Given the description of an element on the screen output the (x, y) to click on. 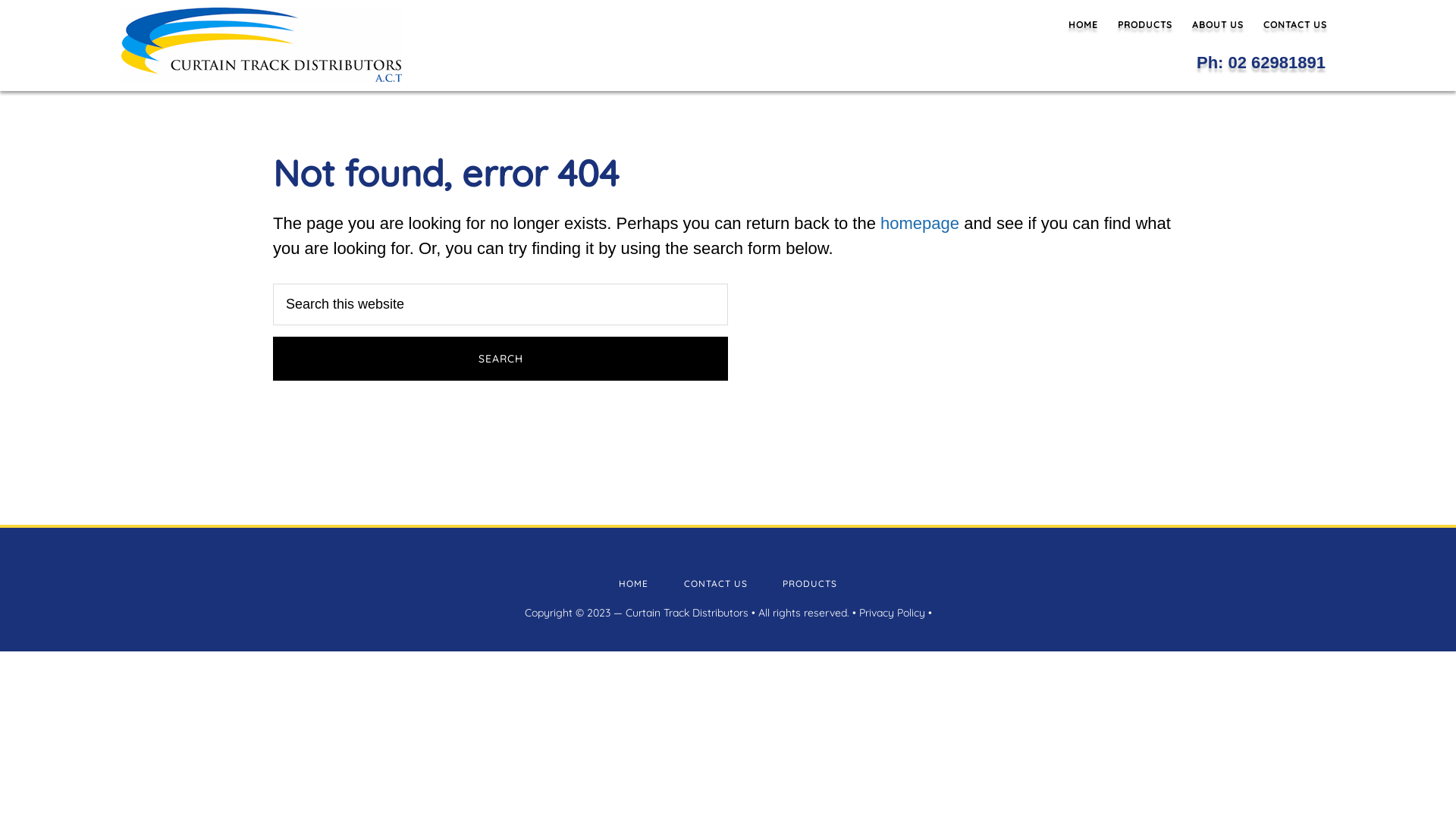
Ph: 02 62981891 Element type: text (1260, 62)
PRODUCTS Element type: text (1144, 25)
HOME Element type: text (633, 583)
Skip to main content Element type: text (0, 0)
homepage Element type: text (919, 222)
Curtain Track Distributors Element type: text (685, 612)
ABOUT US Element type: text (1217, 25)
CONTACT US Element type: text (1294, 25)
PRODUCTS Element type: text (809, 583)
HOME Element type: text (1082, 25)
CONTACT US Element type: text (715, 583)
Search Element type: text (500, 358)
Privacy Policy Element type: text (891, 612)
